Given the description of an element on the screen output the (x, y) to click on. 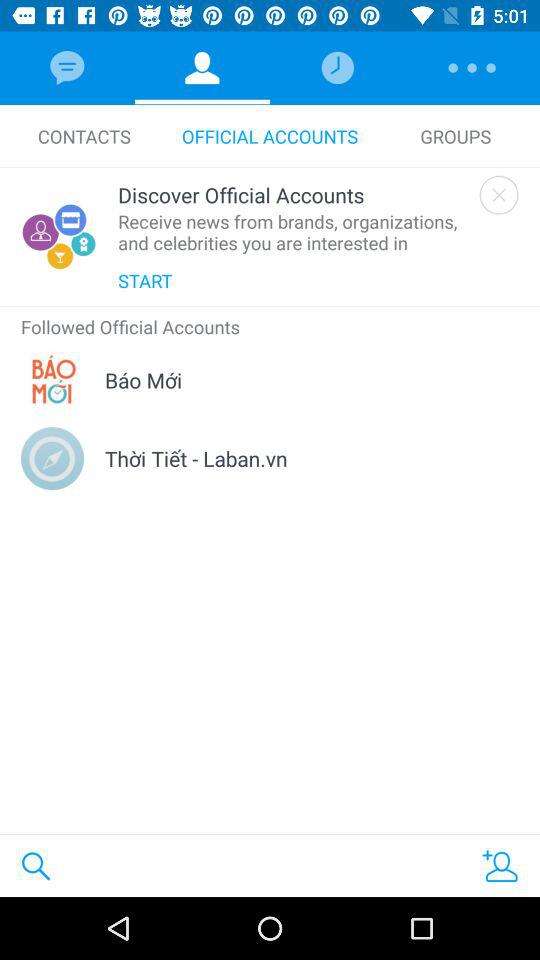
click item to the right of official accounts item (455, 136)
